Given the description of an element on the screen output the (x, y) to click on. 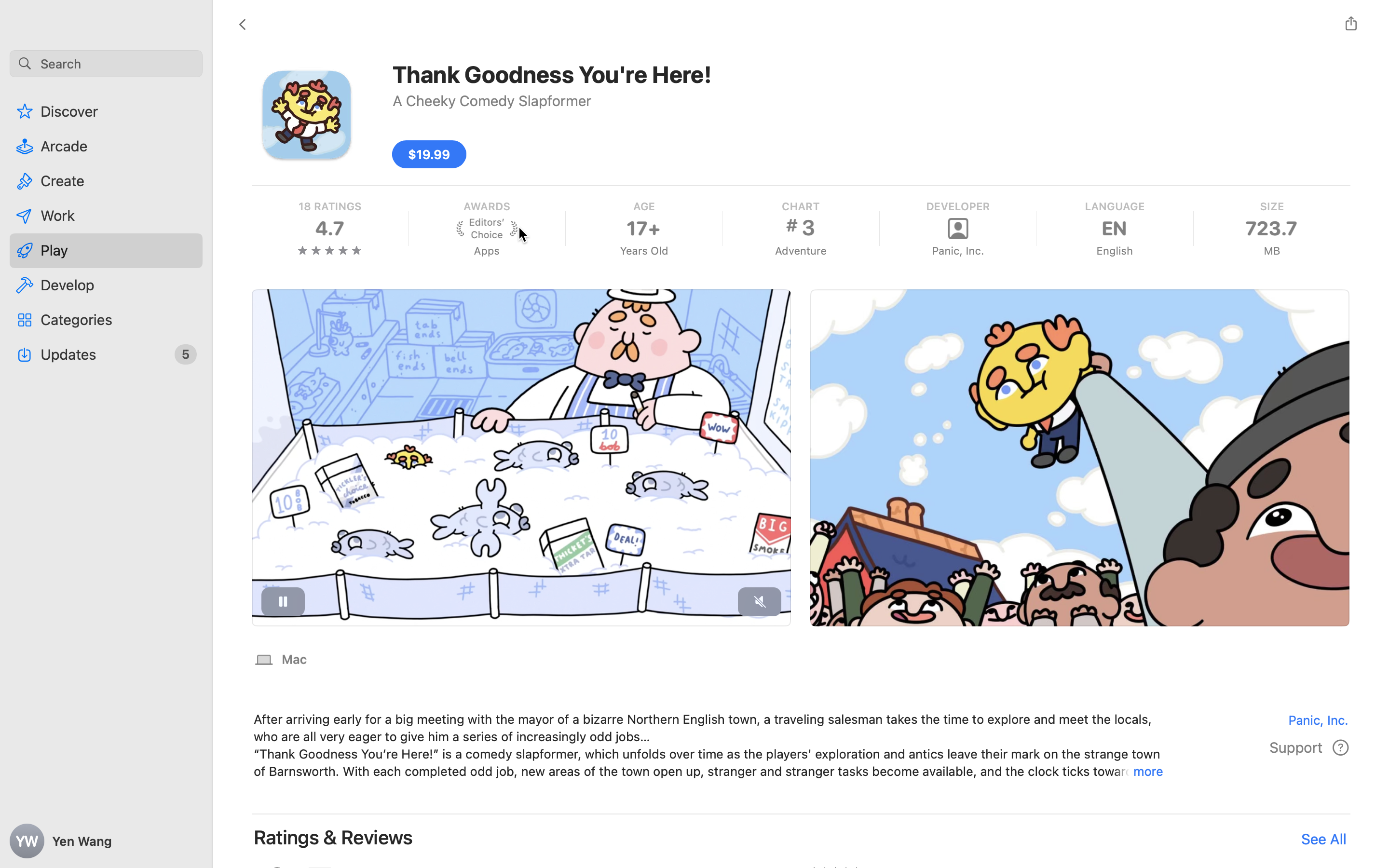
MB, SIZE, 723.7 Element type: AXStaticText (1270, 228)
CHART Element type: AXStaticText (800, 206)
